Given the description of an element on the screen output the (x, y) to click on. 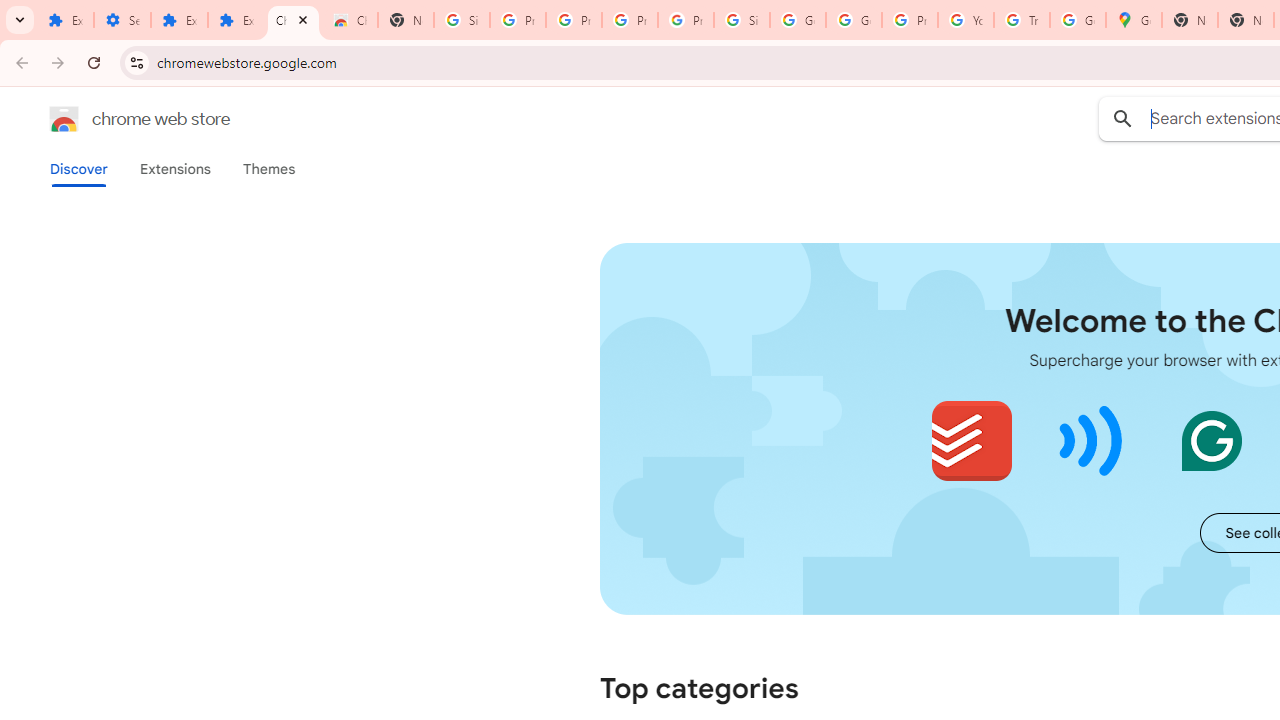
Sign in - Google Accounts (742, 20)
New Tab (1190, 20)
Extensions (174, 169)
